Given the description of an element on the screen output the (x, y) to click on. 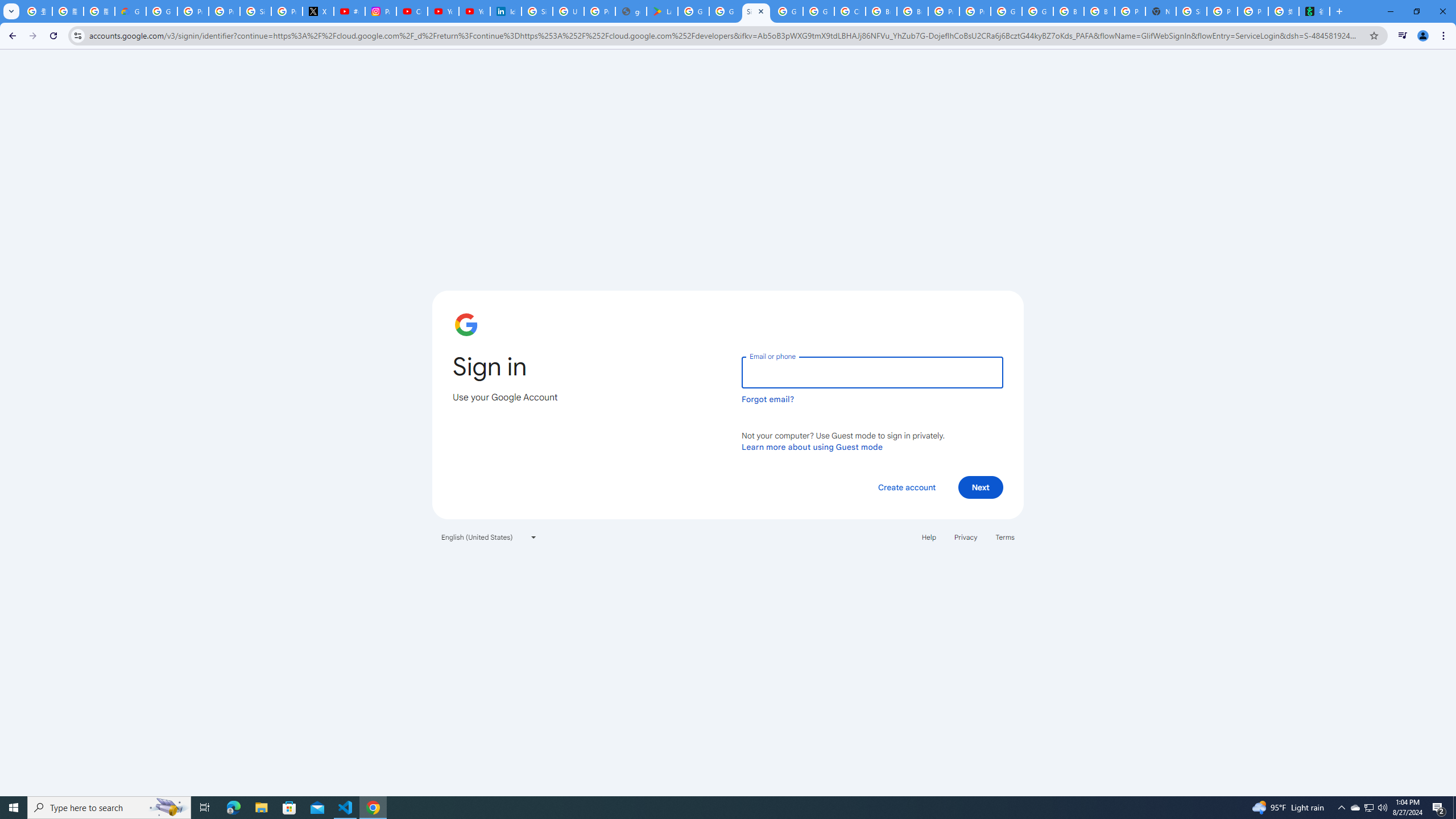
Forgot email? (767, 398)
Privacy Help Center - Policies Help (223, 11)
